Given the description of an element on the screen output the (x, y) to click on. 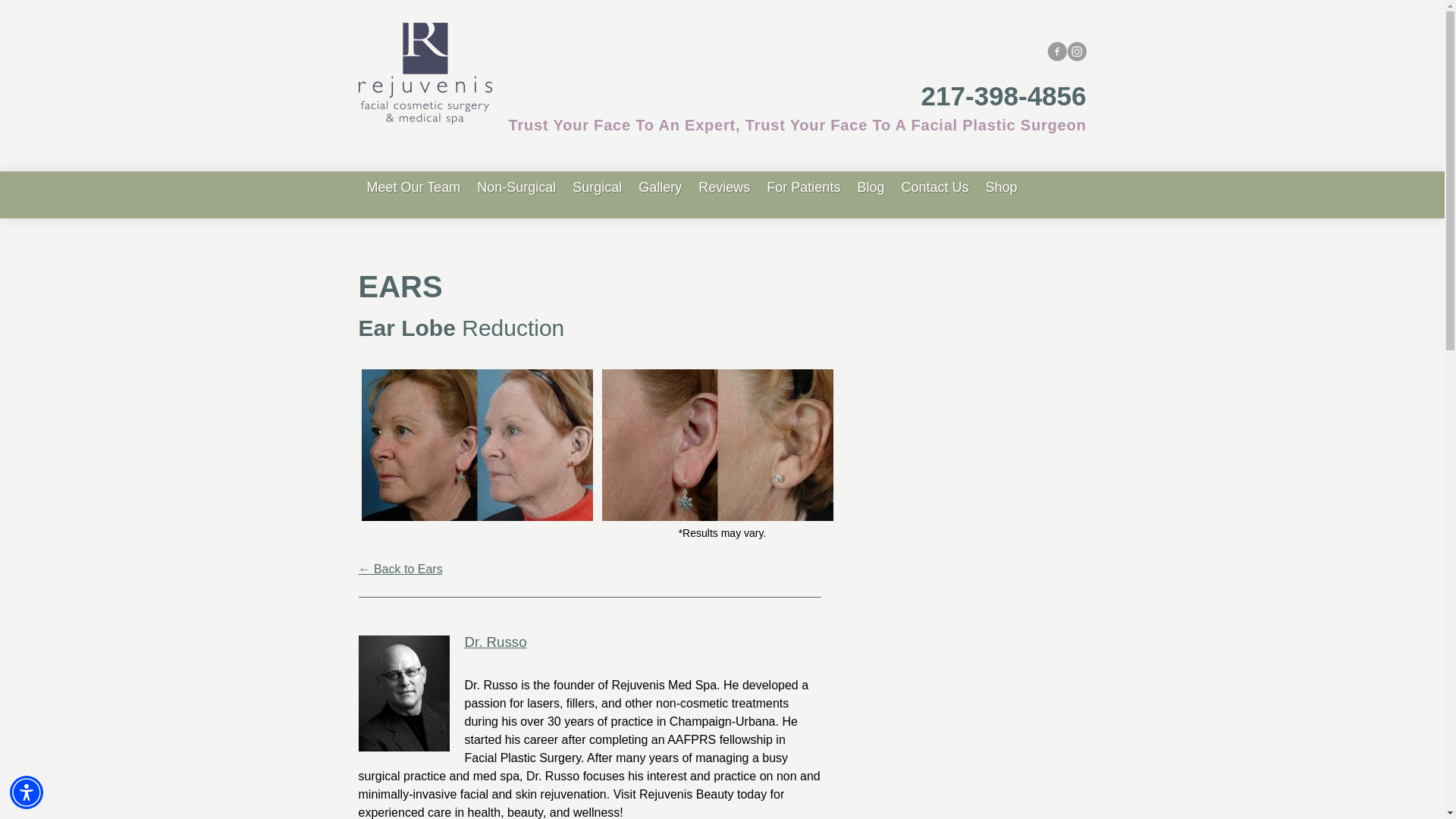
Accessibility Menu (26, 792)
217-398-4856 (1003, 95)
Meet Our Team (413, 187)
Non-Surgical (516, 187)
